Given the description of an element on the screen output the (x, y) to click on. 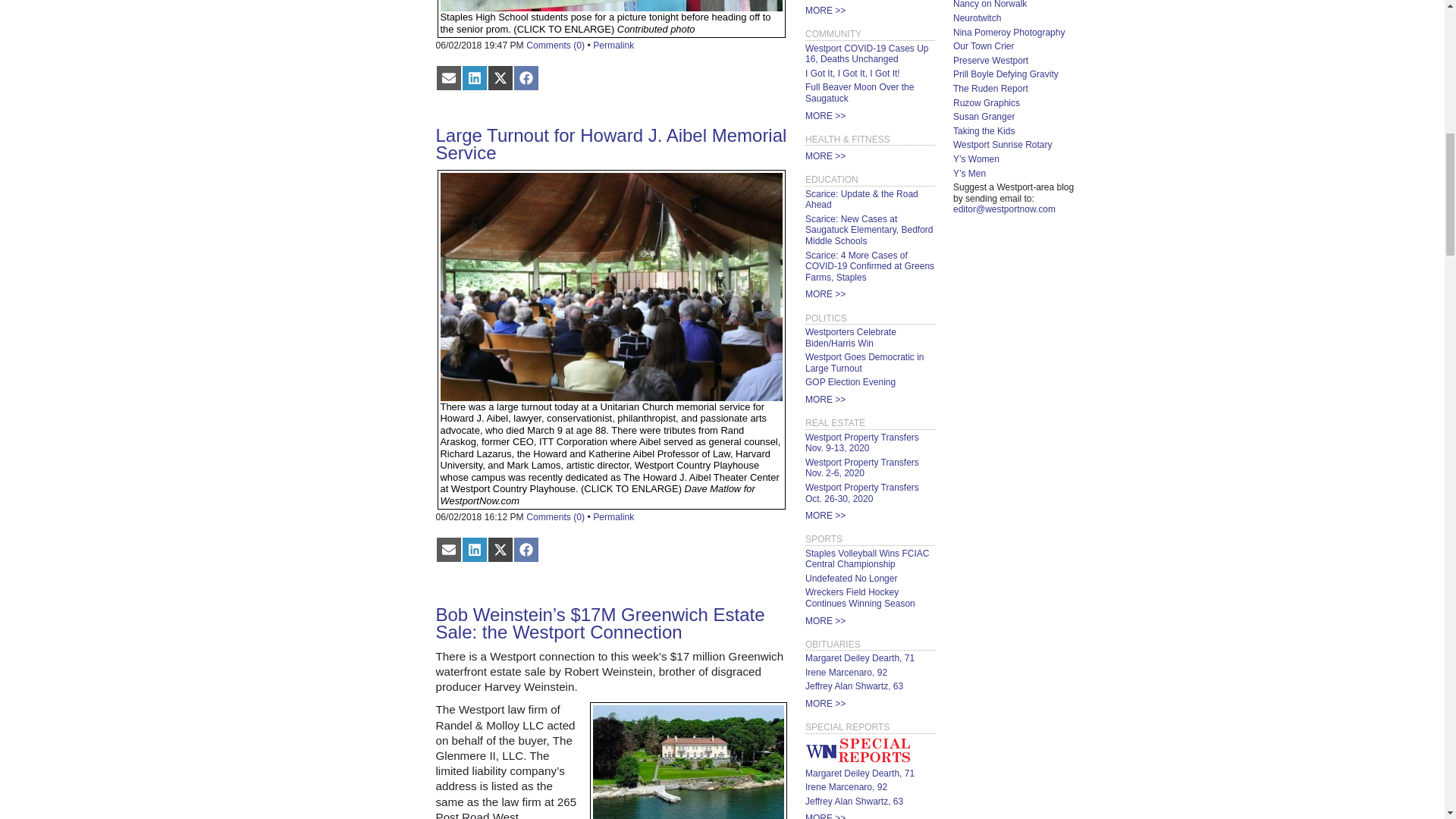
Share on Email (448, 549)
Share on Facebook (525, 77)
Permalink (612, 516)
Share on Email (448, 77)
Share on LinkedIn (473, 77)
Share on LinkedIn (473, 549)
Permalink (612, 45)
Large Turnout for Howard J. Aibel Memorial Service (610, 143)
Share on Facebook (525, 549)
Advertisement (348, 99)
